Given the description of an element on the screen output the (x, y) to click on. 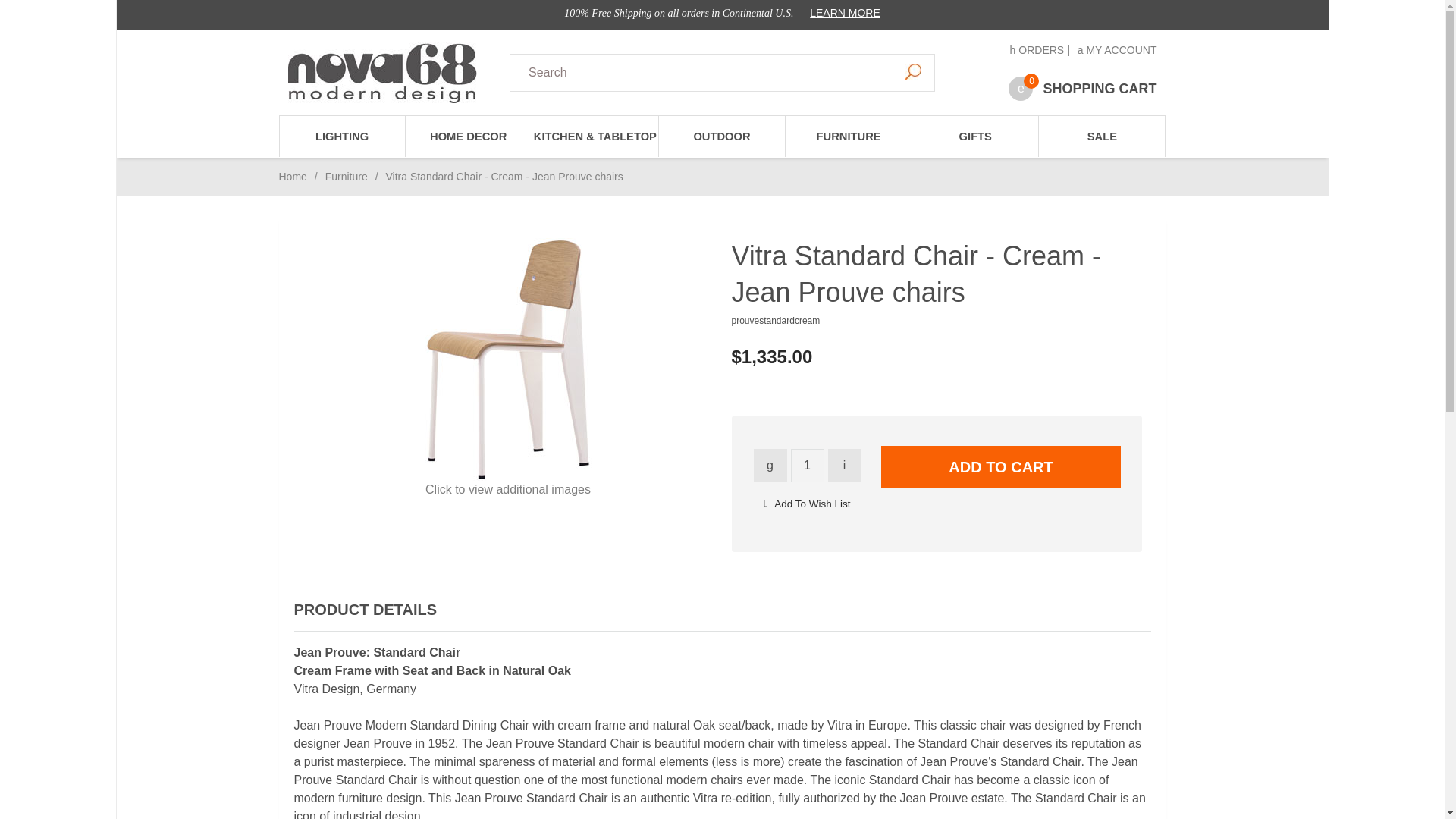
Search (912, 70)
Welcome to Moda Suivant (382, 72)
Home (293, 176)
Furniture (346, 176)
NOVA68.com (389, 72)
Add to Cart (1000, 466)
1 (807, 465)
Add To Wish List (812, 503)
